Given the description of an element on the screen output the (x, y) to click on. 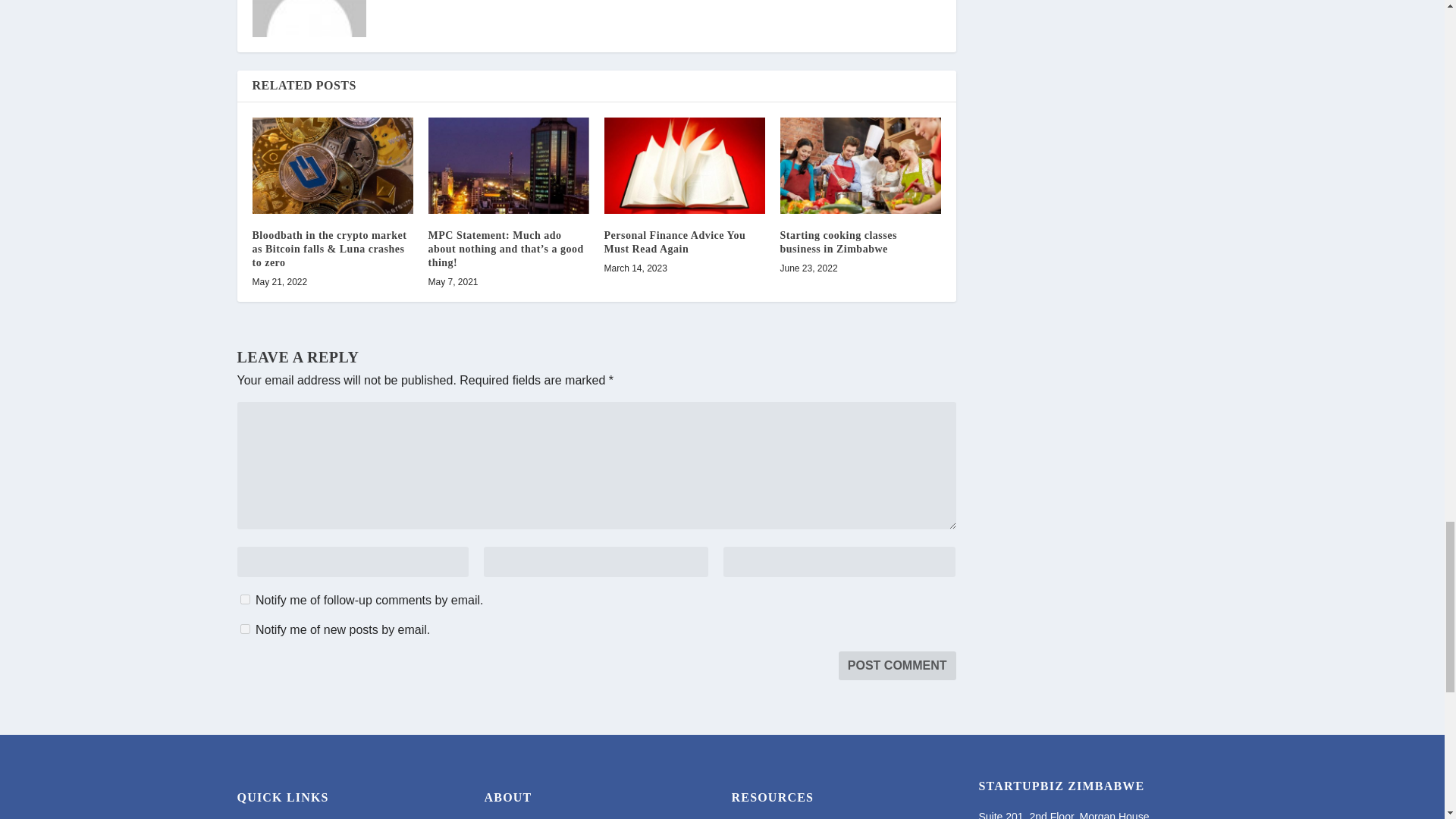
subscribe (244, 599)
subscribe (244, 628)
Post Comment (897, 665)
